Given the description of an element on the screen output the (x, y) to click on. 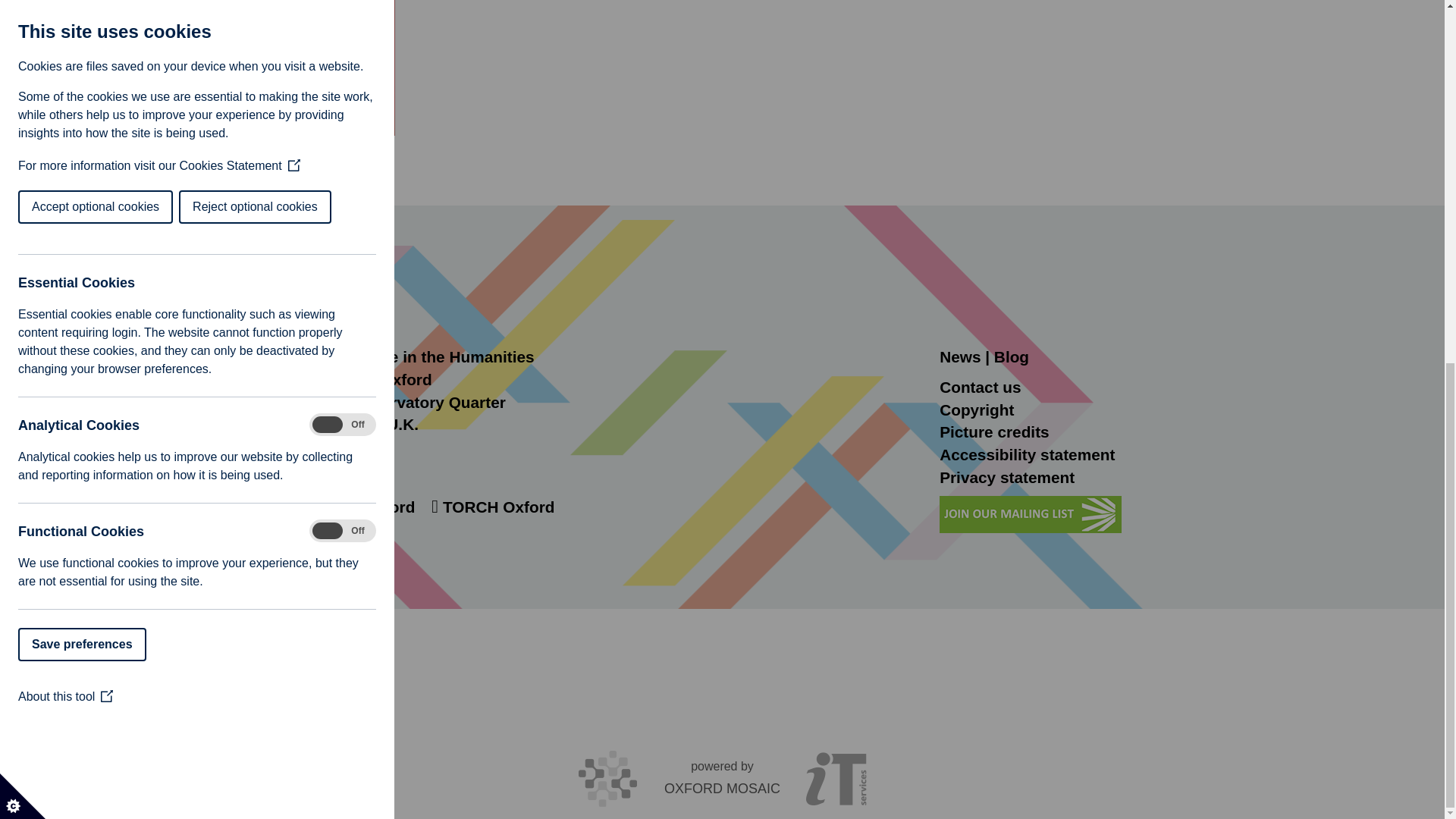
Twitter (277, 506)
Oxford logo (251, 296)
Flyer image (258, 67)
Maillist button (1030, 514)
Save preferences (25, 6)
